Given the description of an element on the screen output the (x, y) to click on. 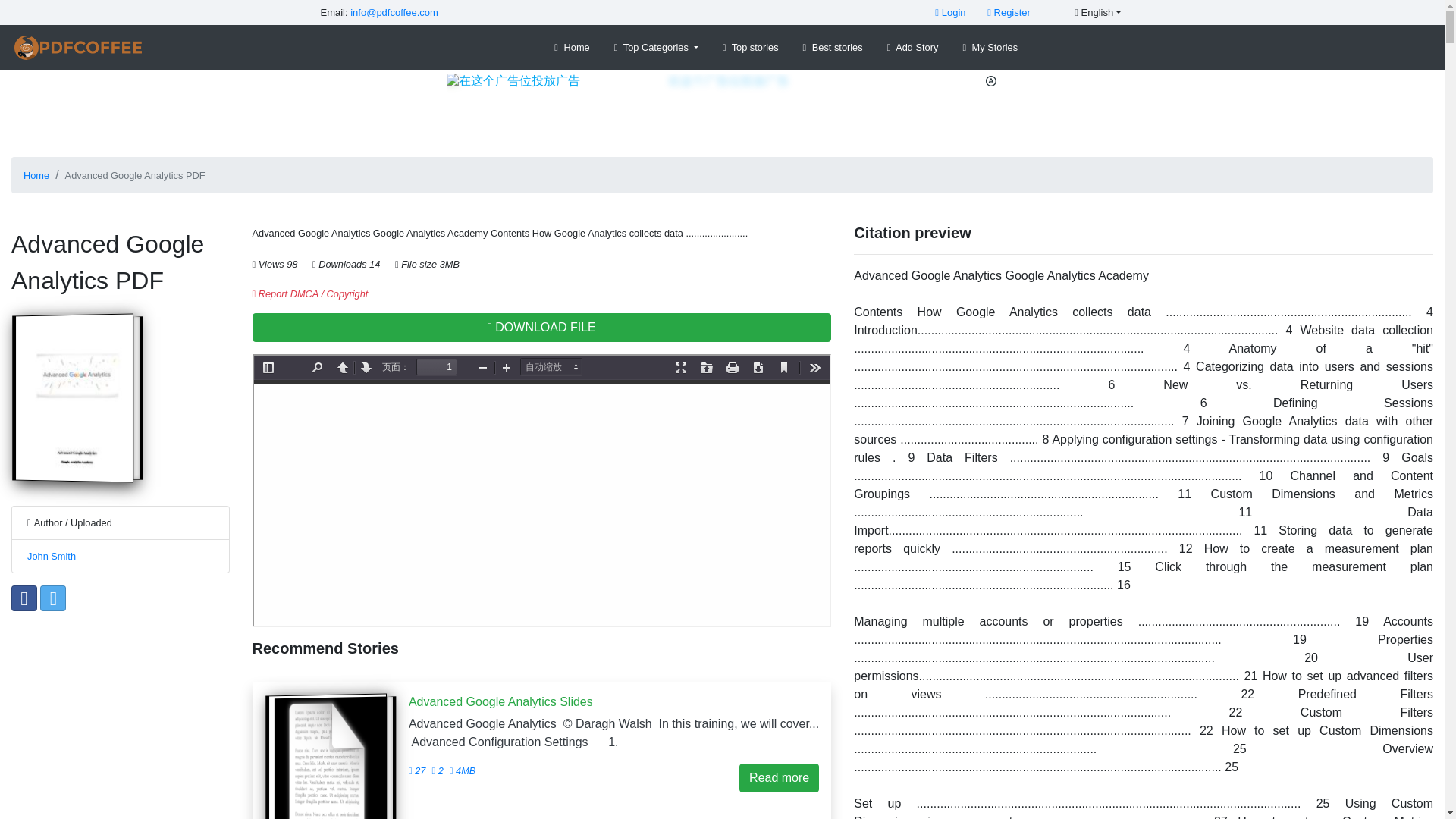
Register (1008, 12)
DOWNLOAD FILE (541, 327)
Add Story (912, 47)
John Smith (51, 555)
Top Categories (656, 47)
Home (36, 174)
My Stories (989, 47)
Best stories (832, 47)
Login (949, 12)
Top stories (750, 47)
